Given the description of an element on the screen output the (x, y) to click on. 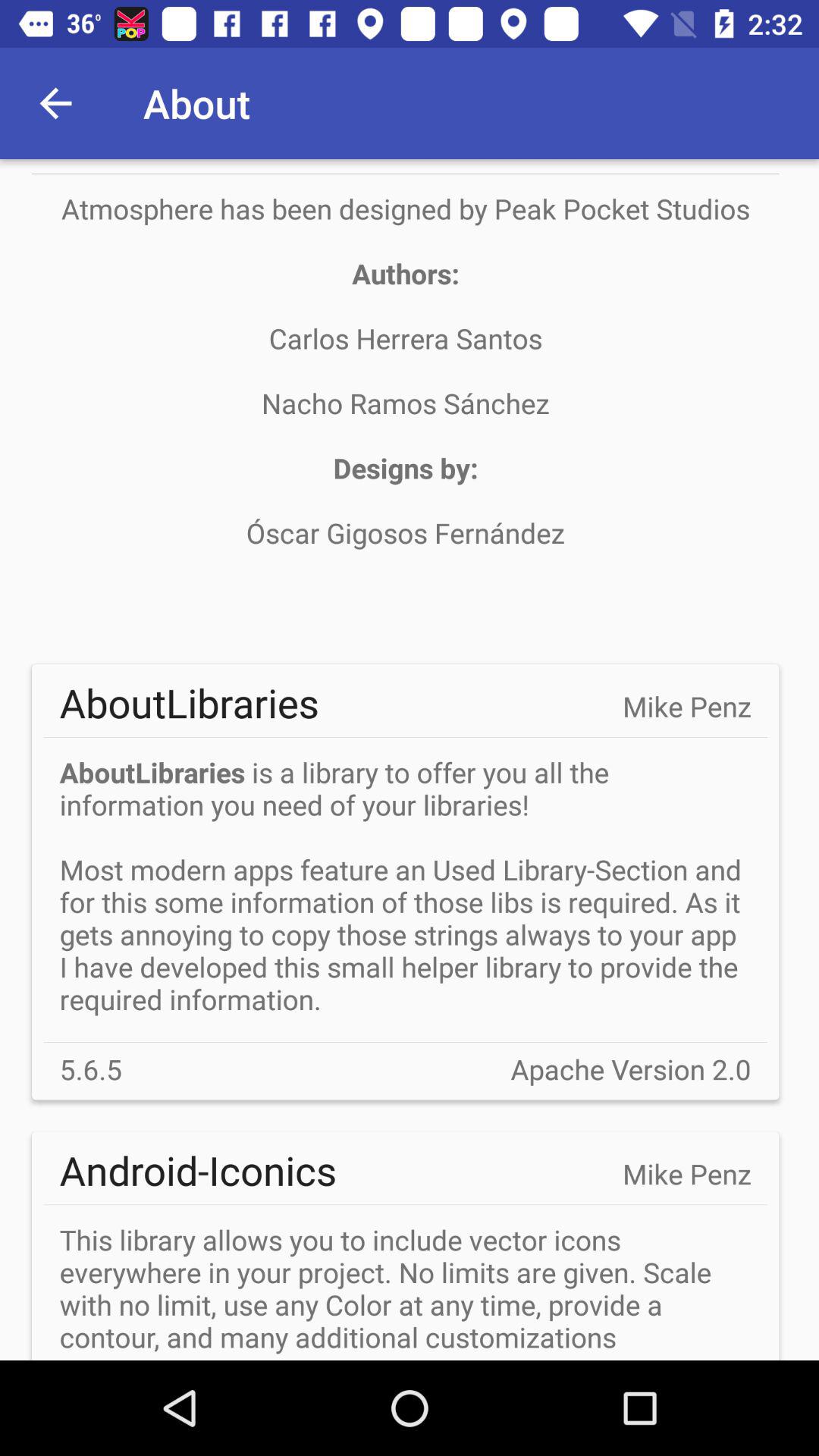
click app next to the about (55, 103)
